Given the description of an element on the screen output the (x, y) to click on. 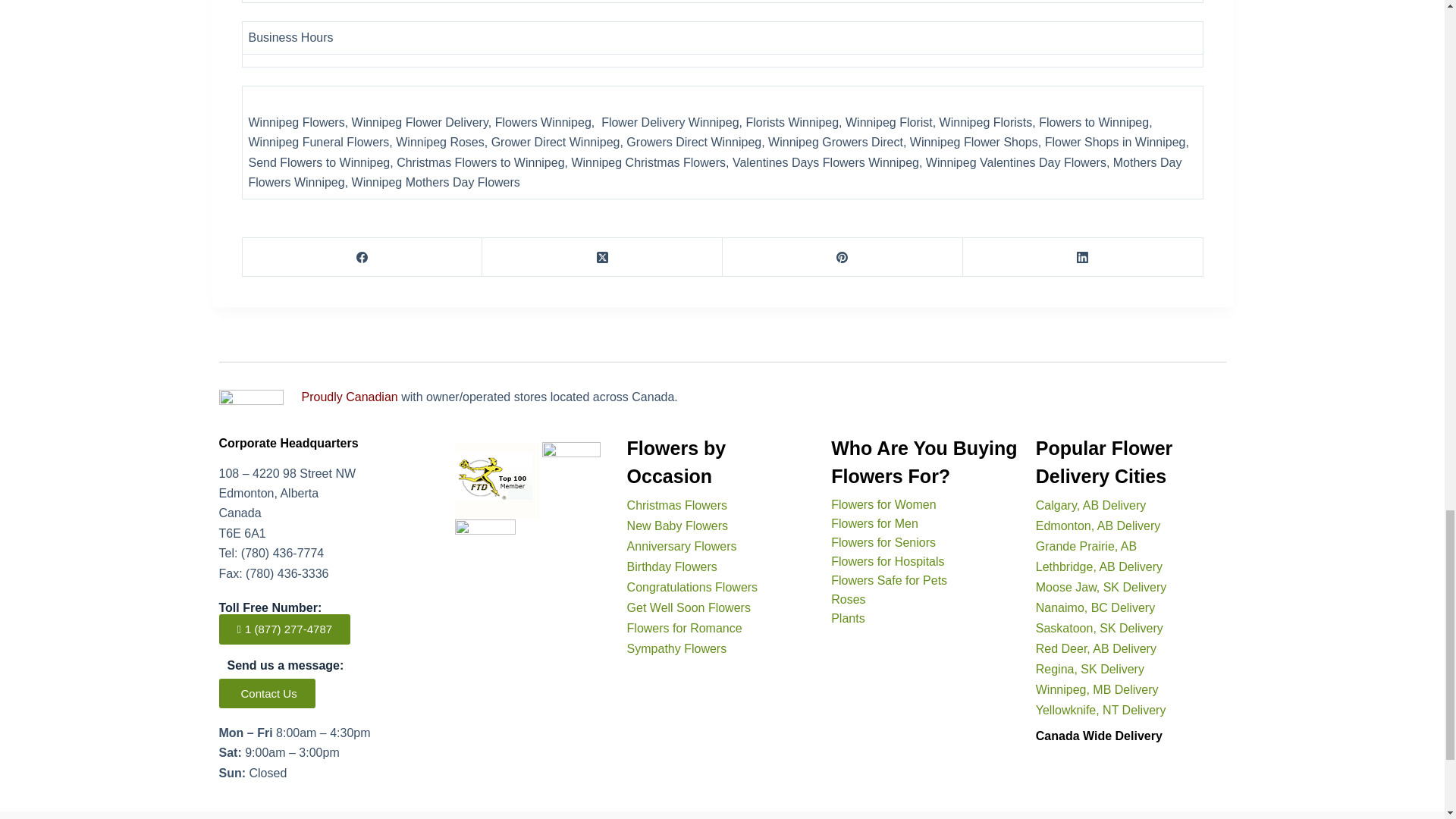
Birthday Flowers (672, 566)
Flowers by Occasion (676, 462)
Congratulations Flowers (692, 586)
New Baby Flowers (677, 525)
Who Are You Buying Flowers For? (923, 462)
Anniversary Flowers (681, 545)
Flowers for Men (874, 522)
Sympathy Flowers (676, 648)
Best Sellers (883, 504)
Flowers for Romance (684, 627)
